Given the description of an element on the screen output the (x, y) to click on. 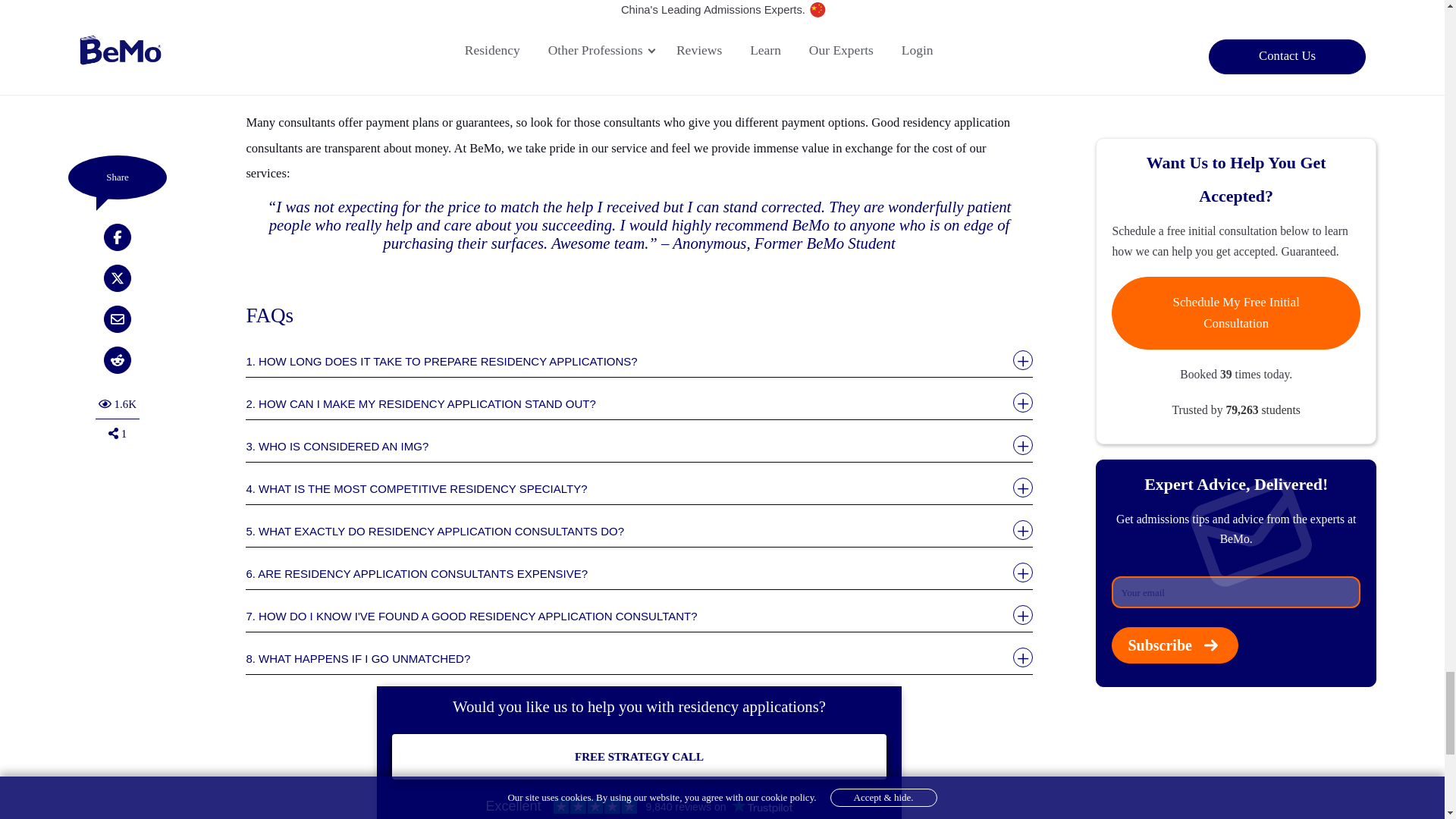
Customer reviews powered by Trustpilot (638, 806)
